Given the description of an element on the screen output the (x, y) to click on. 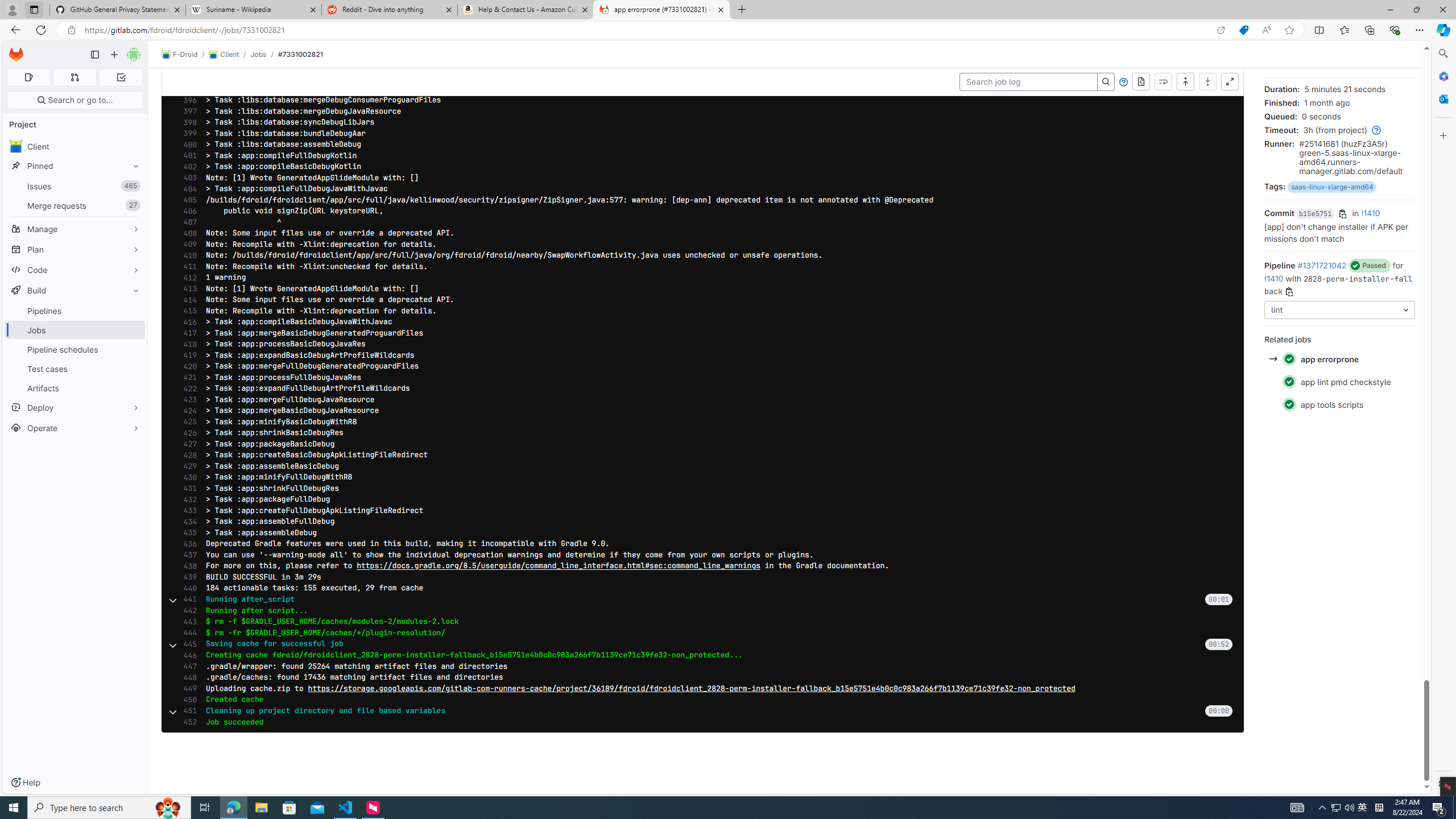
423 (186, 399)
391 (186, 44)
416 (186, 322)
448 (186, 677)
403 (186, 177)
Assigned issues 0 (28, 76)
Artifacts (74, 387)
392 (186, 55)
Deploy (74, 407)
443 (186, 621)
